Given the description of an element on the screen output the (x, y) to click on. 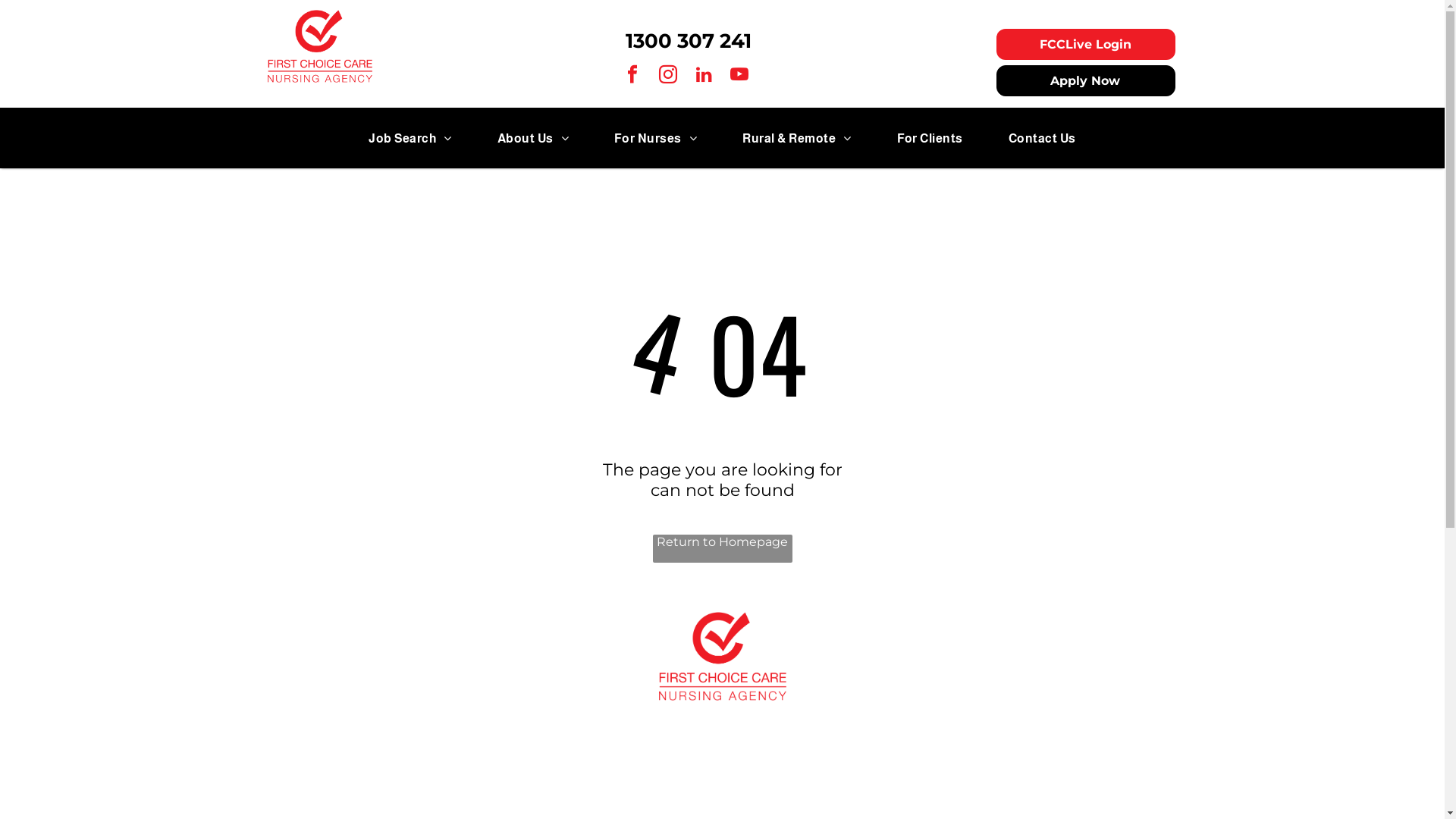
1300 307 241 Element type: text (688, 40)
Return to Homepage Element type: text (721, 548)
FCCLive Login Element type: text (1085, 43)
About Us Element type: text (532, 137)
Apply Now Element type: text (1085, 80)
For Clients Element type: text (929, 137)
Rural & Remote Element type: text (796, 137)
Contact Us Element type: text (1041, 137)
Job Search Element type: text (409, 137)
For Nurses Element type: text (655, 137)
